Given the description of an element on the screen output the (x, y) to click on. 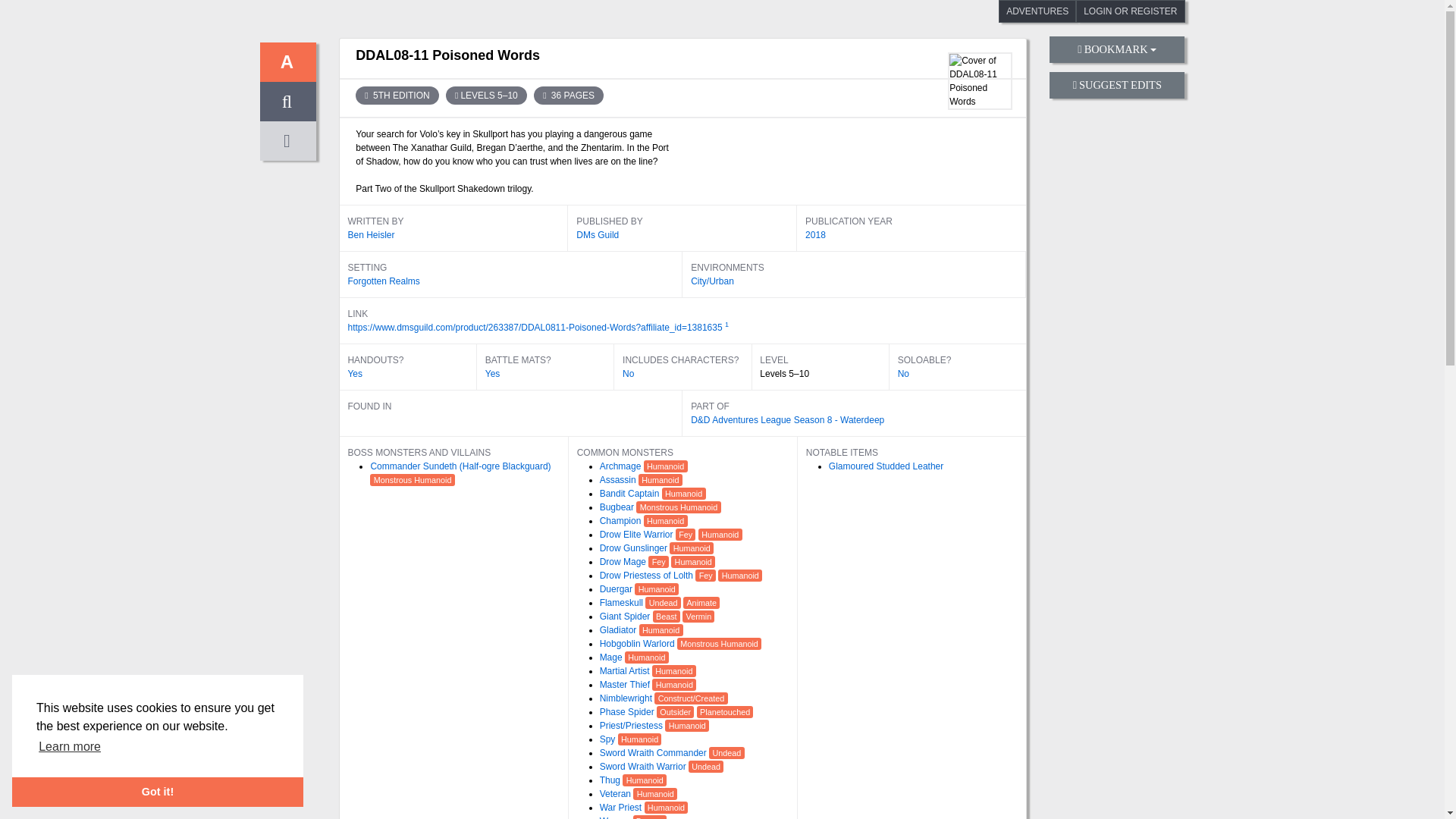
Search for similar adventures (597, 235)
Search for similar adventures (619, 480)
Flameskull (622, 602)
Search for similar adventures (786, 419)
ADVENTURES (1036, 11)
Search for similar adventures (492, 373)
Search for similar adventures (396, 95)
Drow Gunslinger (634, 547)
Forgotten Realms (383, 281)
Back to all adventures (287, 61)
